Given the description of an element on the screen output the (x, y) to click on. 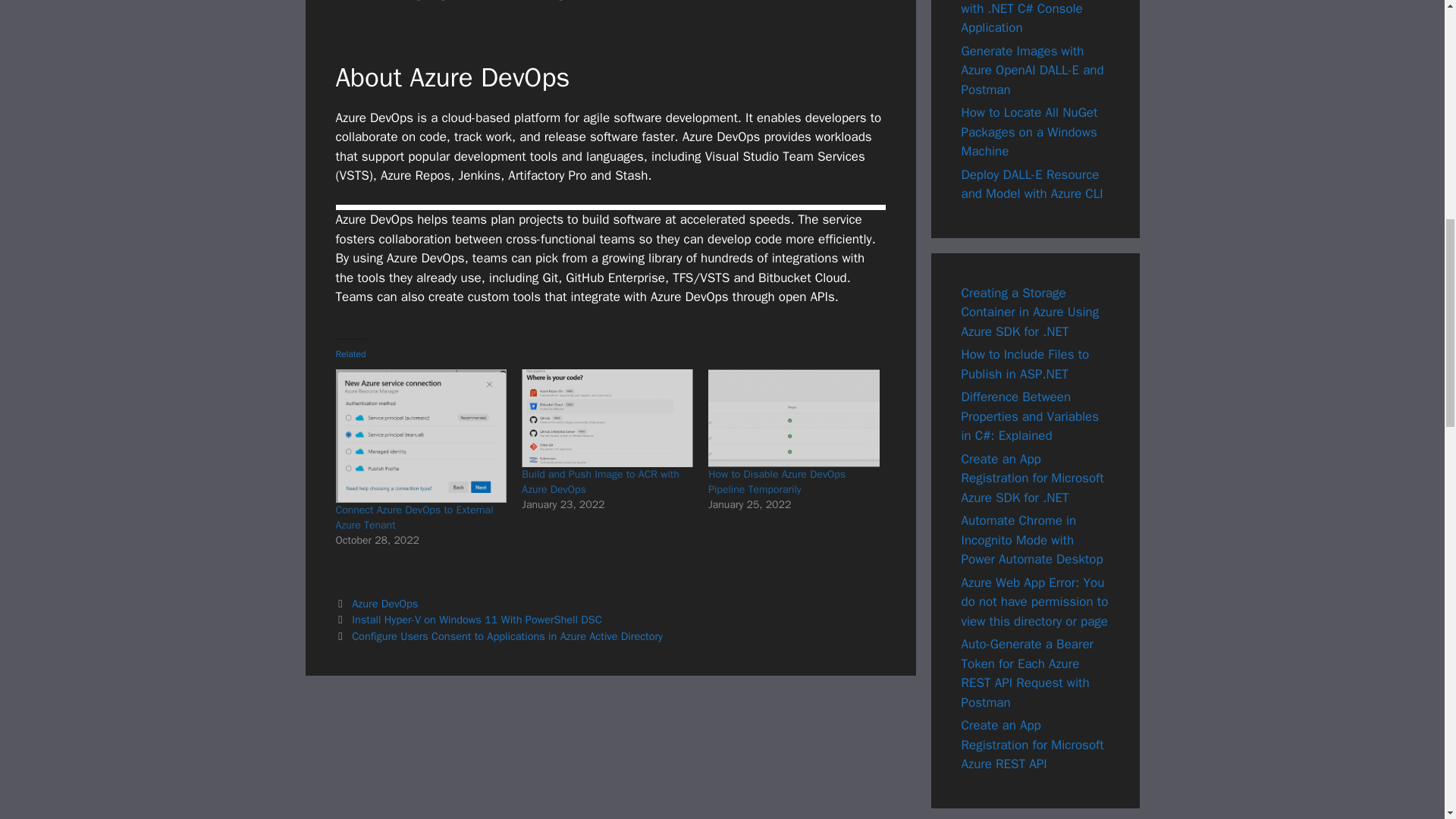
Azure DevOps (384, 603)
Build and Push Image to ACR with Azure DevOps (599, 481)
Deploy DALL-E Resource and Model with Azure CLI (1031, 184)
How to Locate All NuGet Packages on a Windows Machine (1028, 131)
Build and Push Image to ACR with Azure DevOps (607, 417)
How to Include Files to Publish in ASP.NET (1024, 364)
Connect Azure DevOps to External Azure Tenant (420, 435)
Connect Azure DevOps to External Azure Tenant (413, 517)
